Given the description of an element on the screen output the (x, y) to click on. 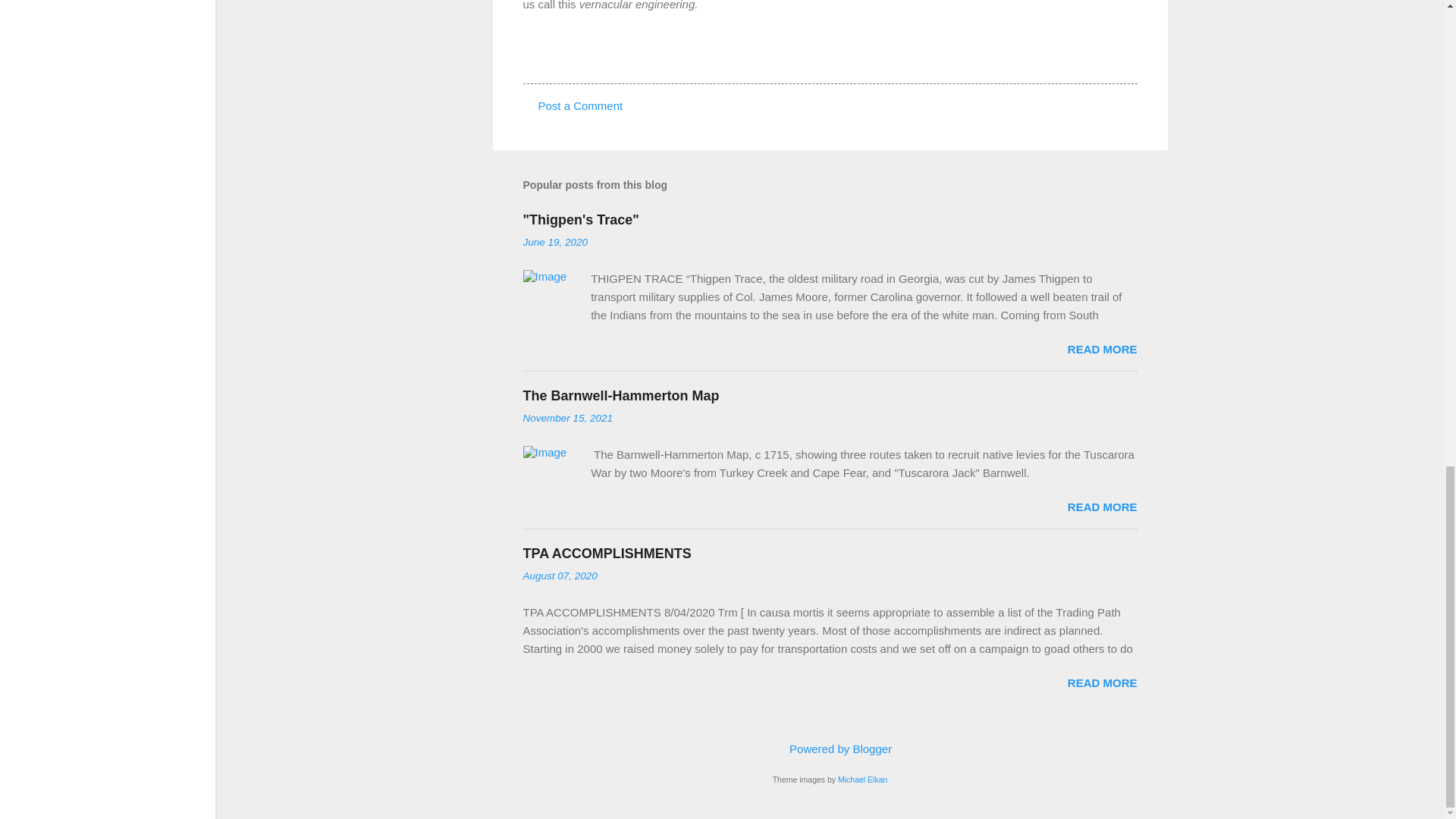
READ MORE (1102, 506)
Powered by Blogger (829, 748)
Email Post (562, 56)
"Thigpen's Trace" (580, 219)
June 19, 2020 (555, 242)
Post a Comment (580, 105)
August 07, 2020 (559, 575)
November 15, 2021 (567, 418)
READ MORE (1102, 682)
permanent link (555, 242)
TPA ACCOMPLISHMENTS (606, 553)
READ MORE (1102, 349)
The Barnwell-Hammerton Map (620, 395)
Michael Elkan (862, 778)
